Given the description of an element on the screen output the (x, y) to click on. 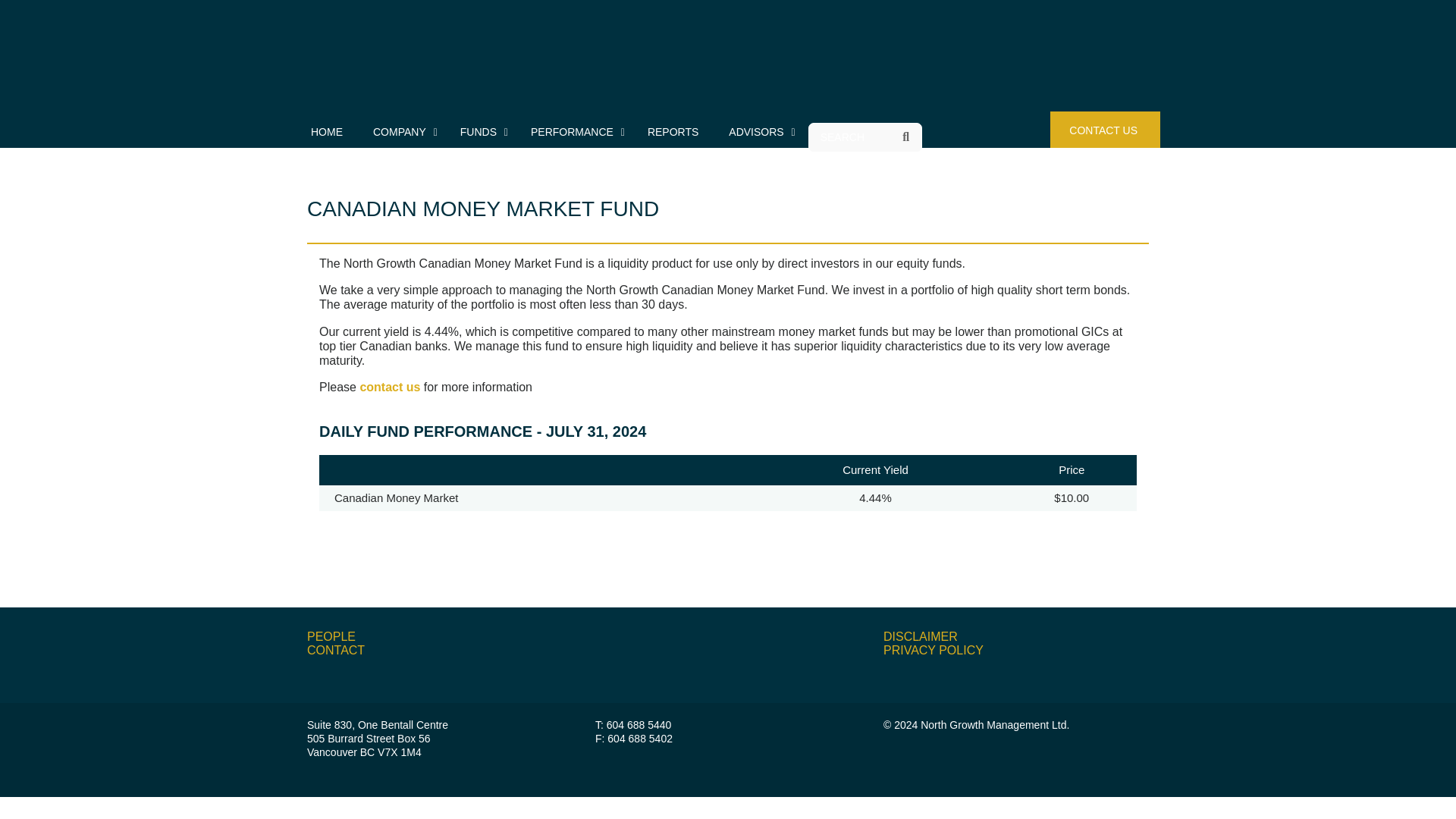
COMPANY (401, 131)
Search (906, 137)
FUNDS (480, 131)
REPORTS (672, 131)
CONTACT US (1104, 129)
CONTACT (336, 649)
PERFORMANCE (573, 131)
DISCLAIMER (920, 635)
North Growth Management (416, 58)
contact us (389, 386)
PEOPLE (331, 635)
ADVISORS (757, 131)
PRIVACY POLICY (933, 649)
HOME (326, 131)
